Given the description of an element on the screen output the (x, y) to click on. 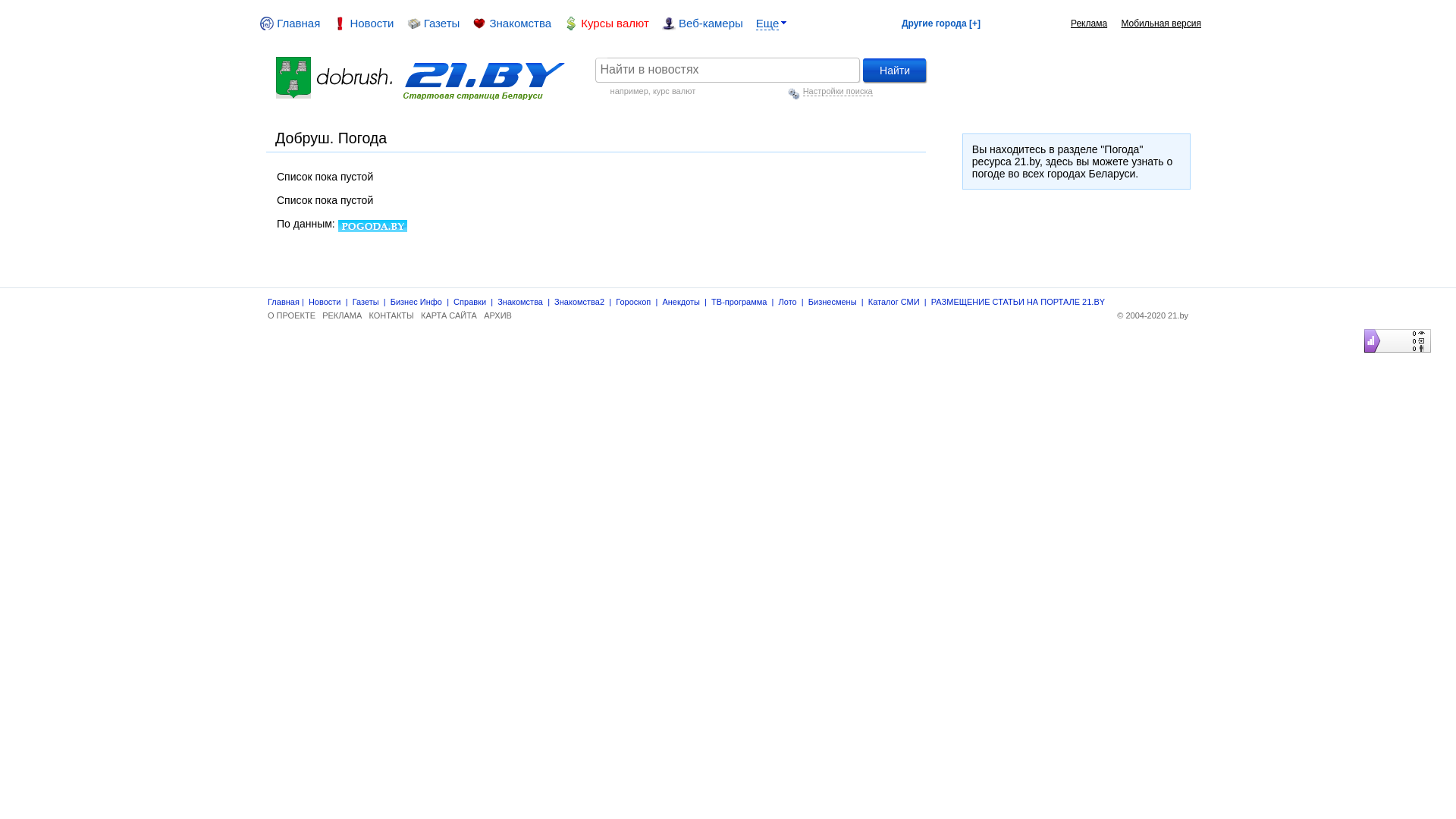
LiveInternet Element type: hover (1360, 329)
  Element type: text (336, 62)
